Given the description of an element on the screen output the (x, y) to click on. 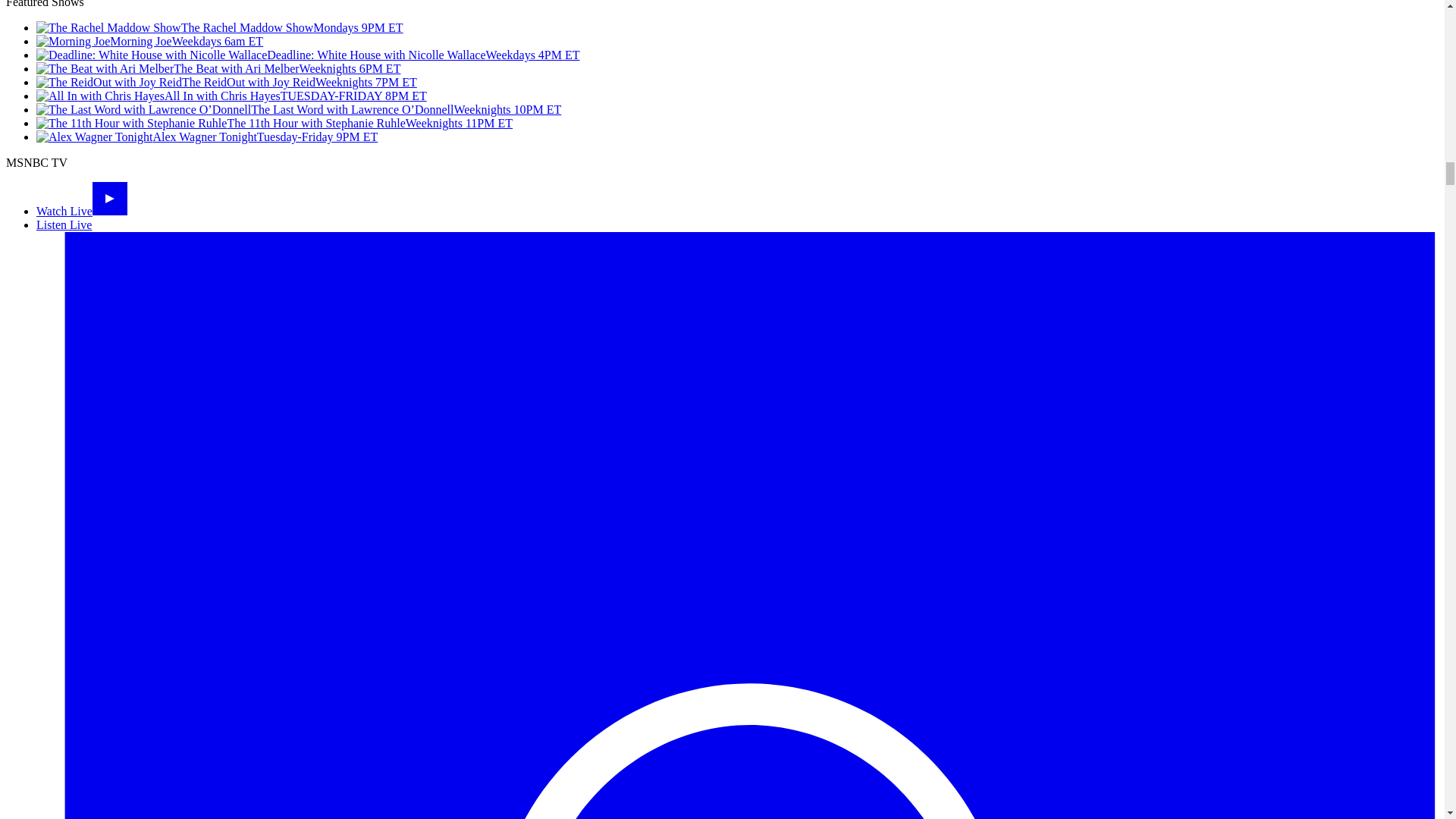
The ReidOut with Joy ReidWeeknights 7PM ET (226, 82)
Alex Wagner TonightTuesday-Friday 9PM ET (206, 136)
All In with Chris HayesTUESDAY-FRIDAY 8PM ET (231, 95)
The 11th Hour with Stephanie RuhleWeeknights 11PM ET (274, 123)
The Rachel Maddow ShowMondays 9PM ET (219, 27)
Deadline: White House with Nicolle WallaceWeekdays 4PM ET (307, 54)
The Beat with Ari MelberWeeknights 6PM ET (218, 68)
Morning JoeWeekdays 6am ET (149, 41)
Watch Live (82, 210)
